Given the description of an element on the screen output the (x, y) to click on. 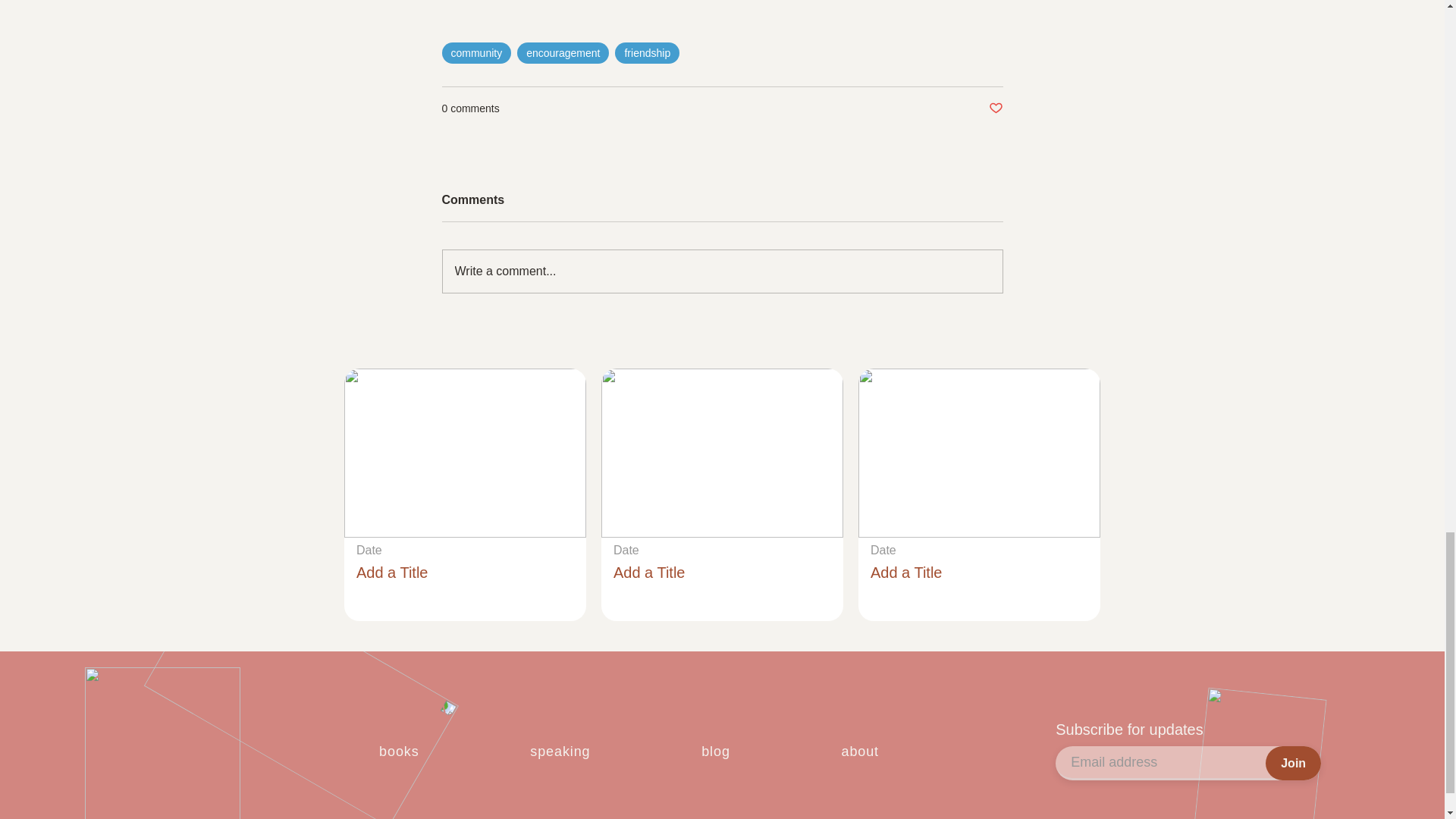
books (398, 751)
Join (1292, 763)
encouragement (562, 52)
about (859, 751)
friendship (646, 52)
community (476, 52)
Post not marked as liked (995, 108)
Write a comment... (722, 271)
speaking (560, 751)
blog (715, 751)
